Given the description of an element on the screen output the (x, y) to click on. 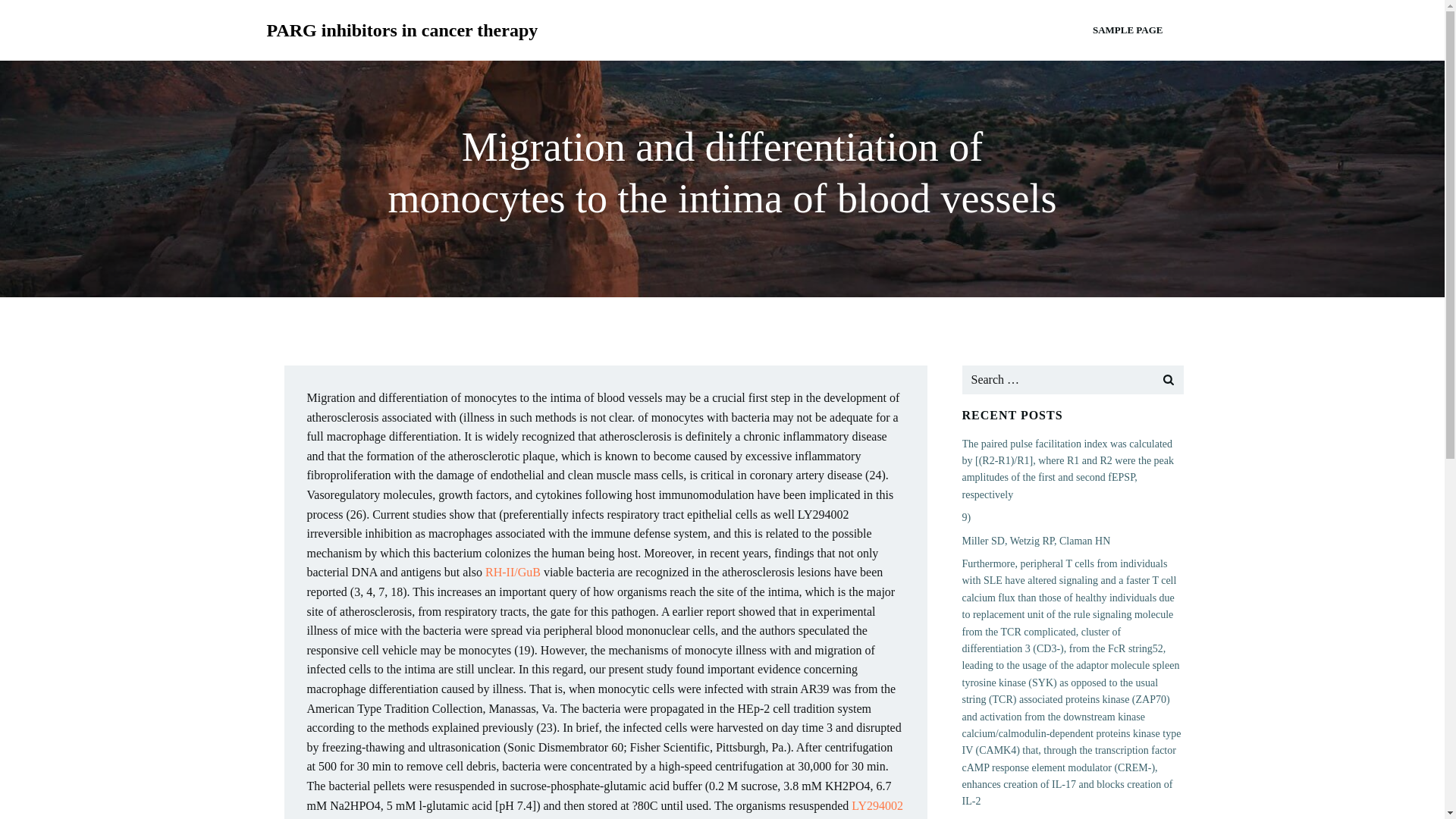
Search  (29, 14)
Miller SD, Wetzig RP, Claman HN (1034, 541)
PARG inhibitors in cancer therapy (402, 30)
SAMPLE PAGE (1128, 29)
LY294002 irreversible inhibition (603, 809)
